Given the description of an element on the screen output the (x, y) to click on. 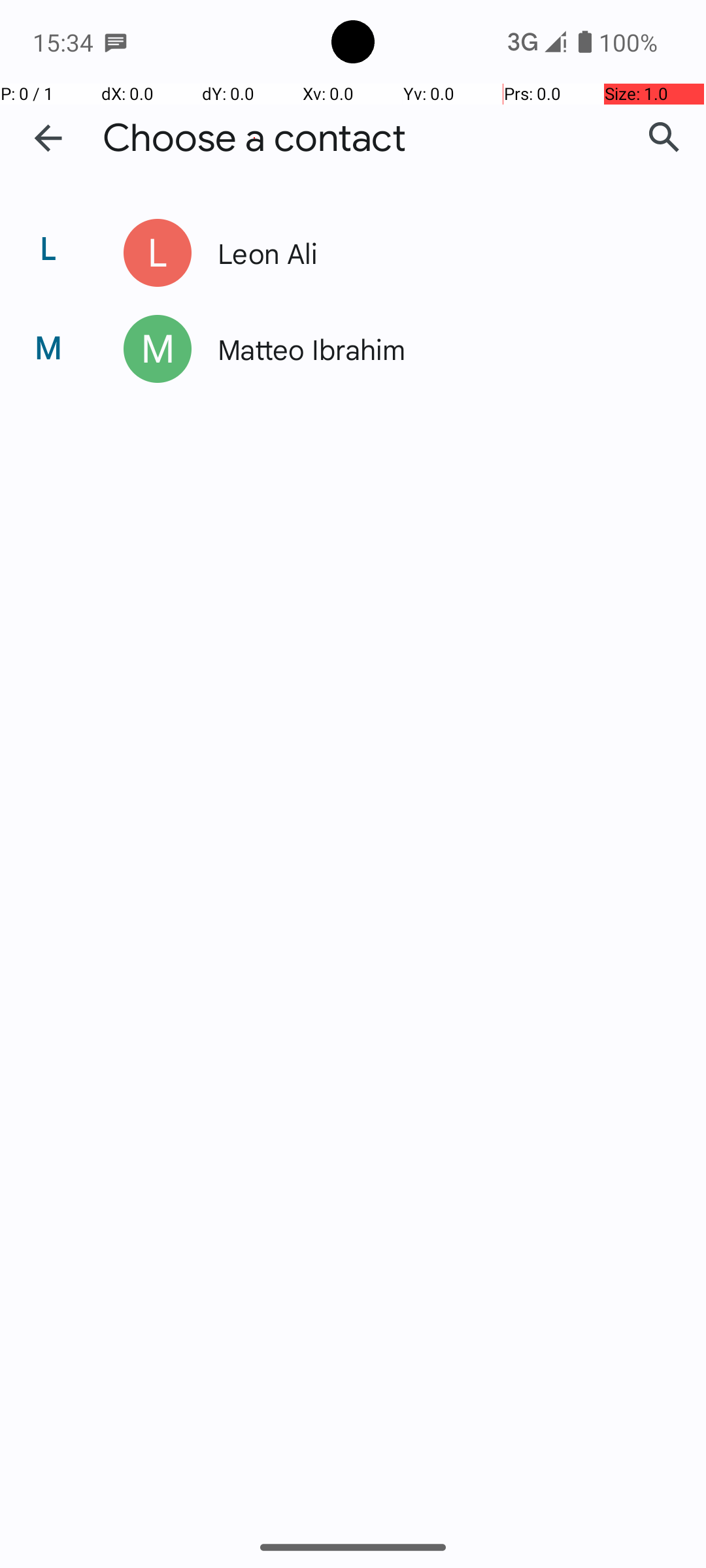
Choose a contact Element type: android.widget.TextView (253, 138)
Search contacts Element type: android.widget.Button (664, 137)
Leon Ali Element type: android.widget.TextView (434, 252)
Matteo Ibrahim Element type: android.widget.TextView (434, 348)
